Given the description of an element on the screen output the (x, y) to click on. 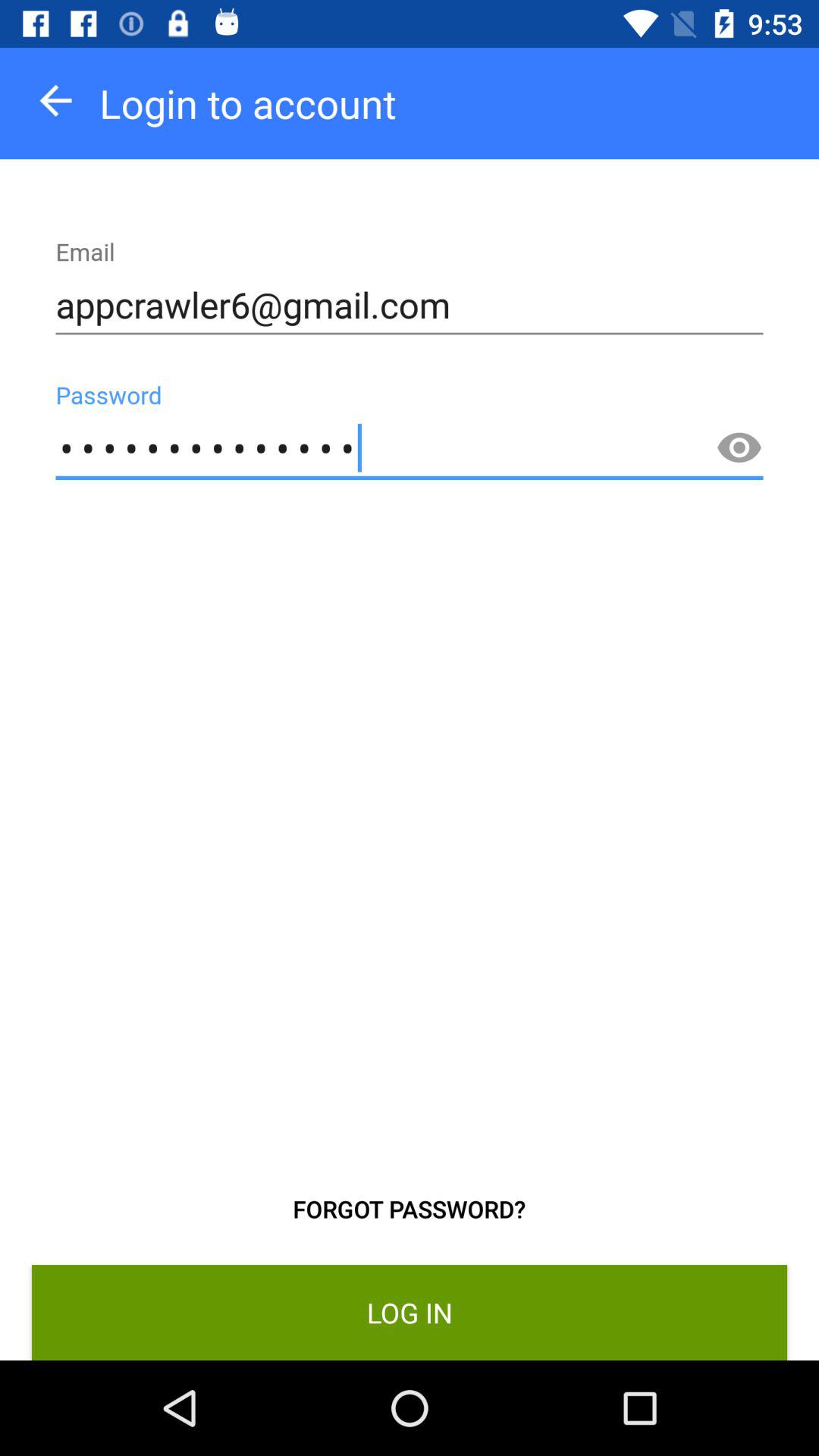
press icon next to login to account item (55, 100)
